Given the description of an element on the screen output the (x, y) to click on. 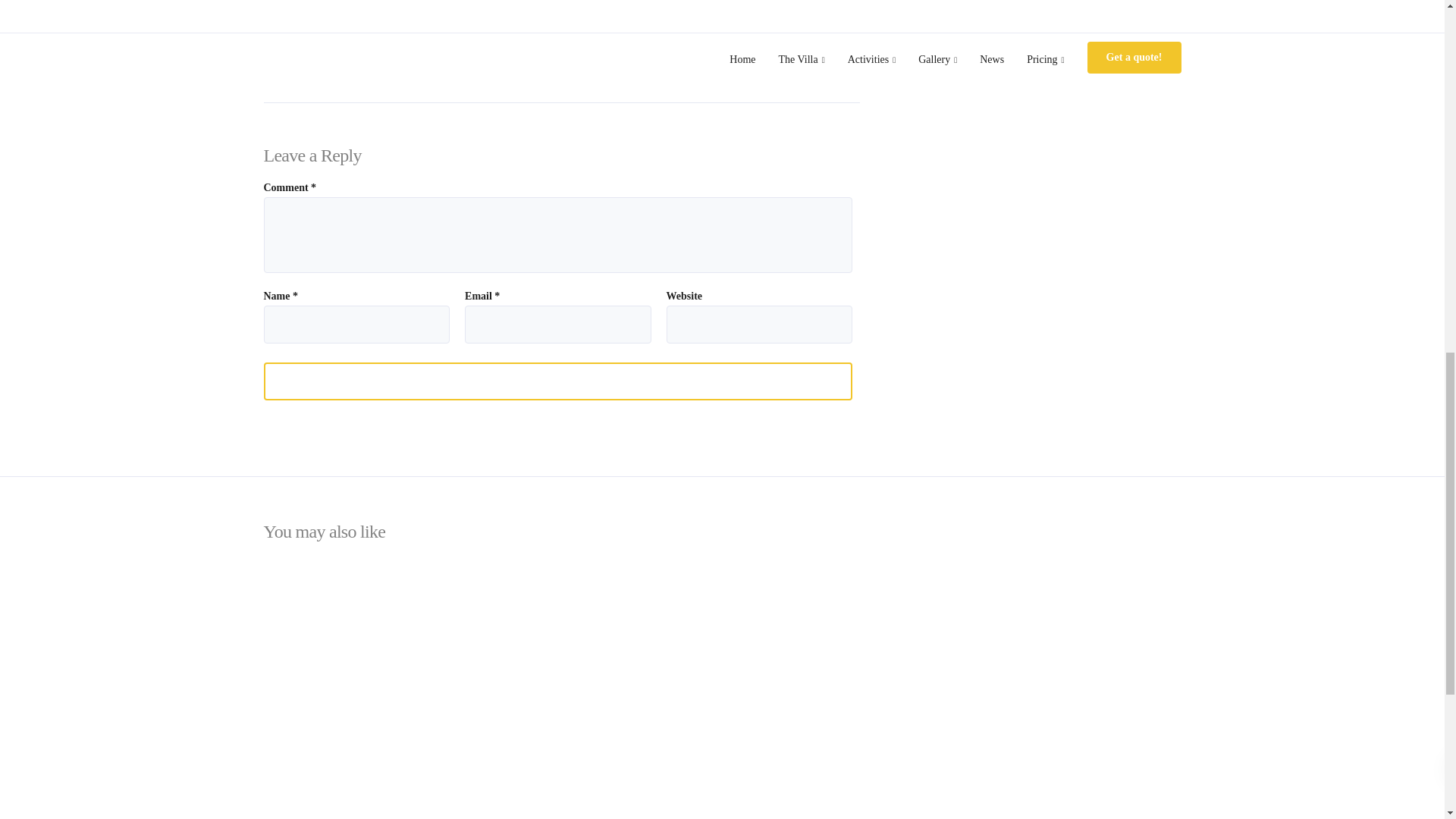
Share on Twitter (473, 35)
Post Comment (558, 381)
Share on Facebook (333, 35)
Post Comment (558, 381)
